Given the description of an element on the screen output the (x, y) to click on. 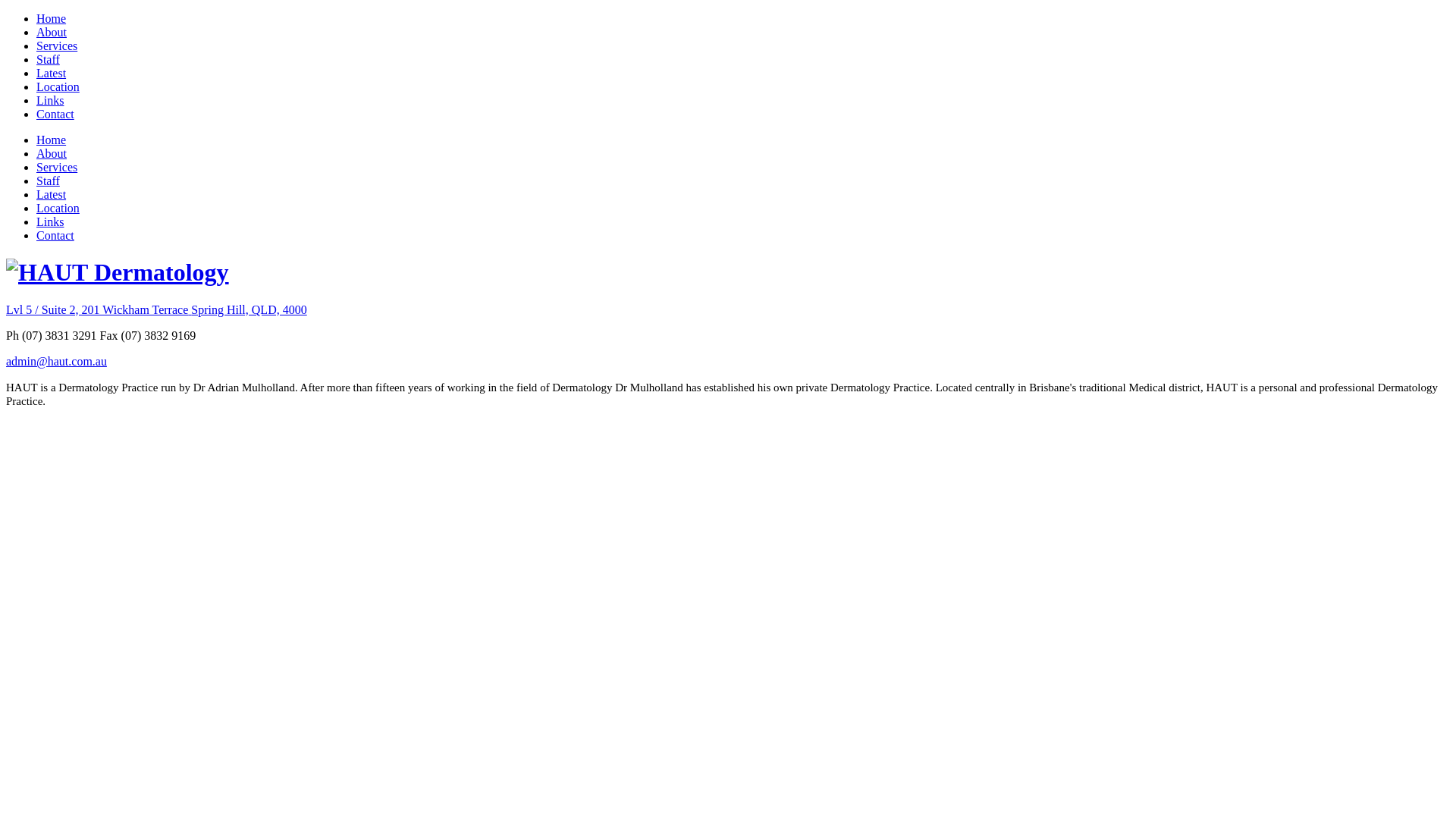
Lvl 5 / Suite 2, 201 Wickham Terrace Spring Hill, QLD, 4000 Element type: text (156, 309)
Home Element type: text (50, 18)
Location Element type: text (57, 86)
Services Element type: text (56, 45)
admin@haut.com.au Element type: text (56, 360)
About Element type: text (51, 31)
Latest Element type: text (50, 194)
Staff Element type: text (47, 180)
Contact Element type: text (55, 235)
Home Element type: text (50, 139)
Staff Element type: text (47, 59)
Services Element type: text (56, 166)
About Element type: text (51, 153)
Location Element type: text (57, 207)
Latest Element type: text (50, 72)
Contact Element type: text (55, 113)
Links Element type: text (49, 100)
Links Element type: text (49, 221)
